Given the description of an element on the screen output the (x, y) to click on. 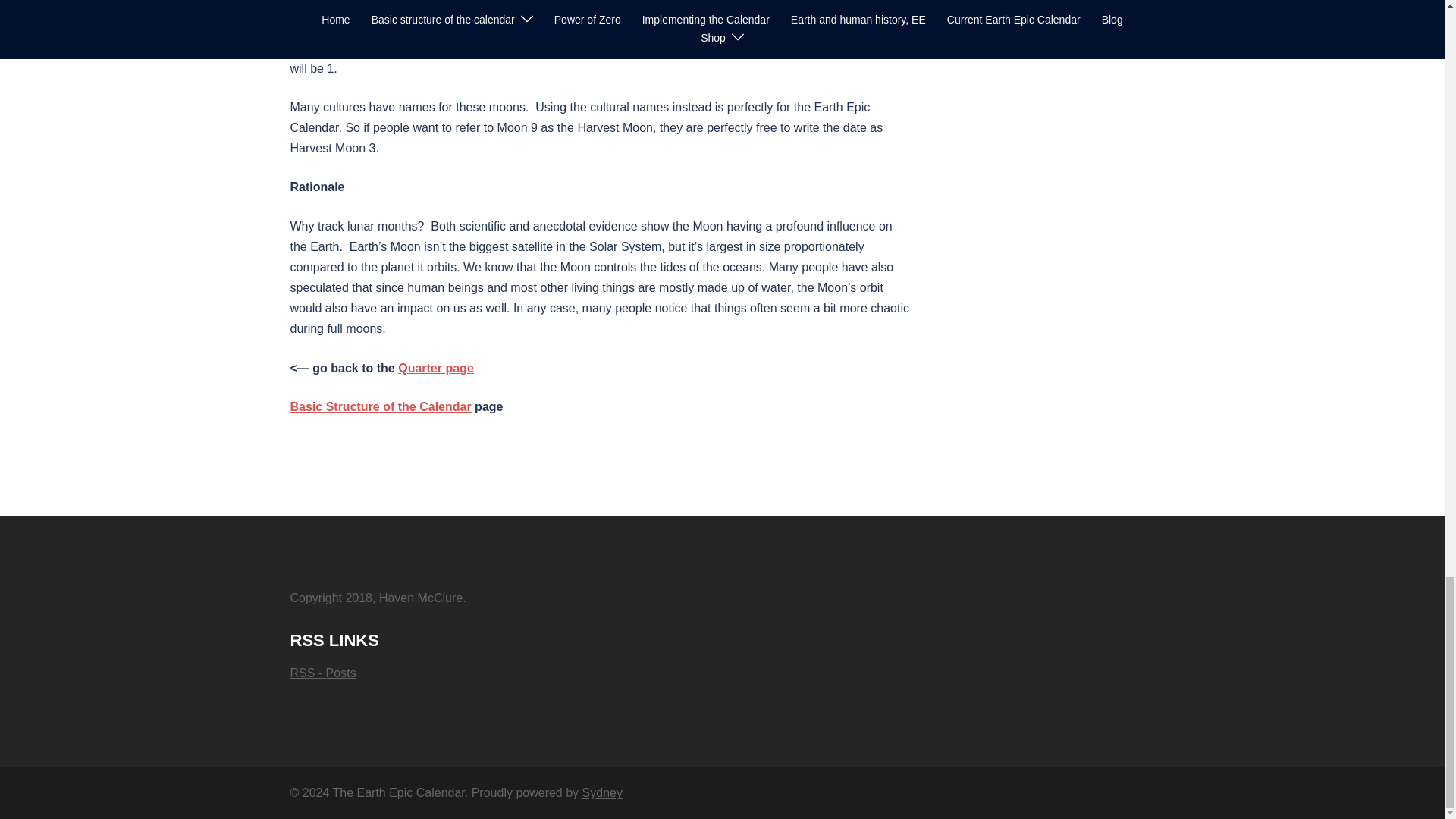
Subscribe to posts (322, 672)
